Given the description of an element on the screen output the (x, y) to click on. 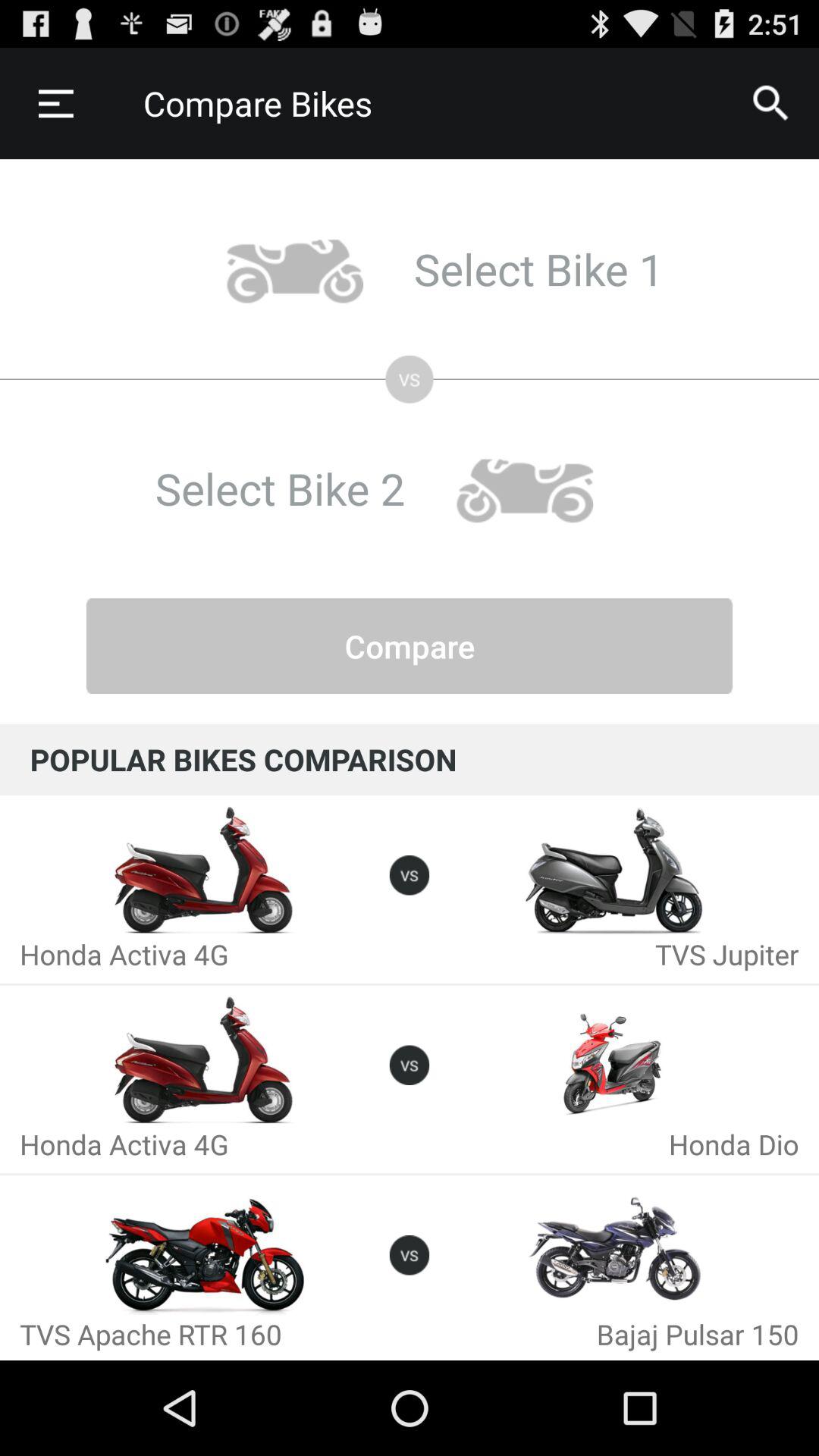
select icon next to compare bikes icon (771, 103)
